Given the description of an element on the screen output the (x, y) to click on. 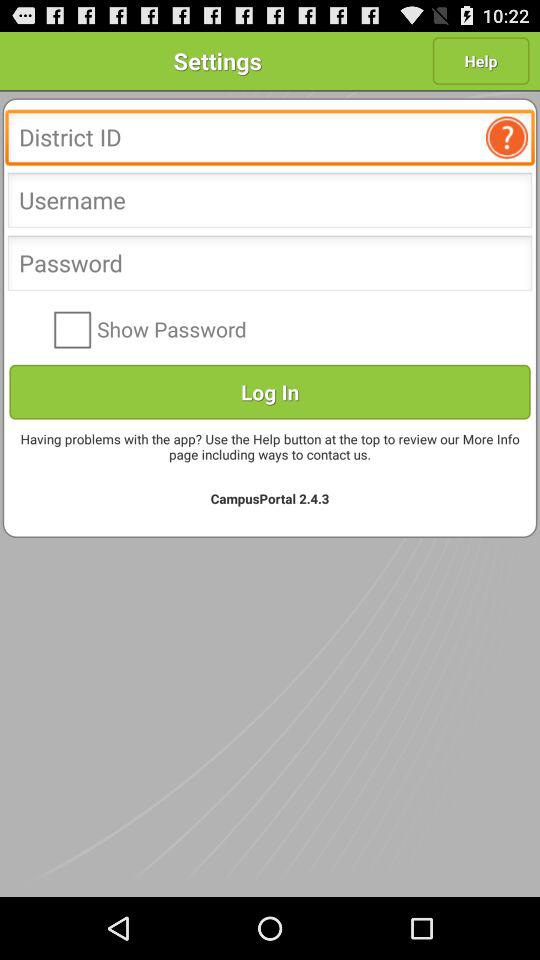
turn on the app above the having problems with (269, 391)
